Given the description of an element on the screen output the (x, y) to click on. 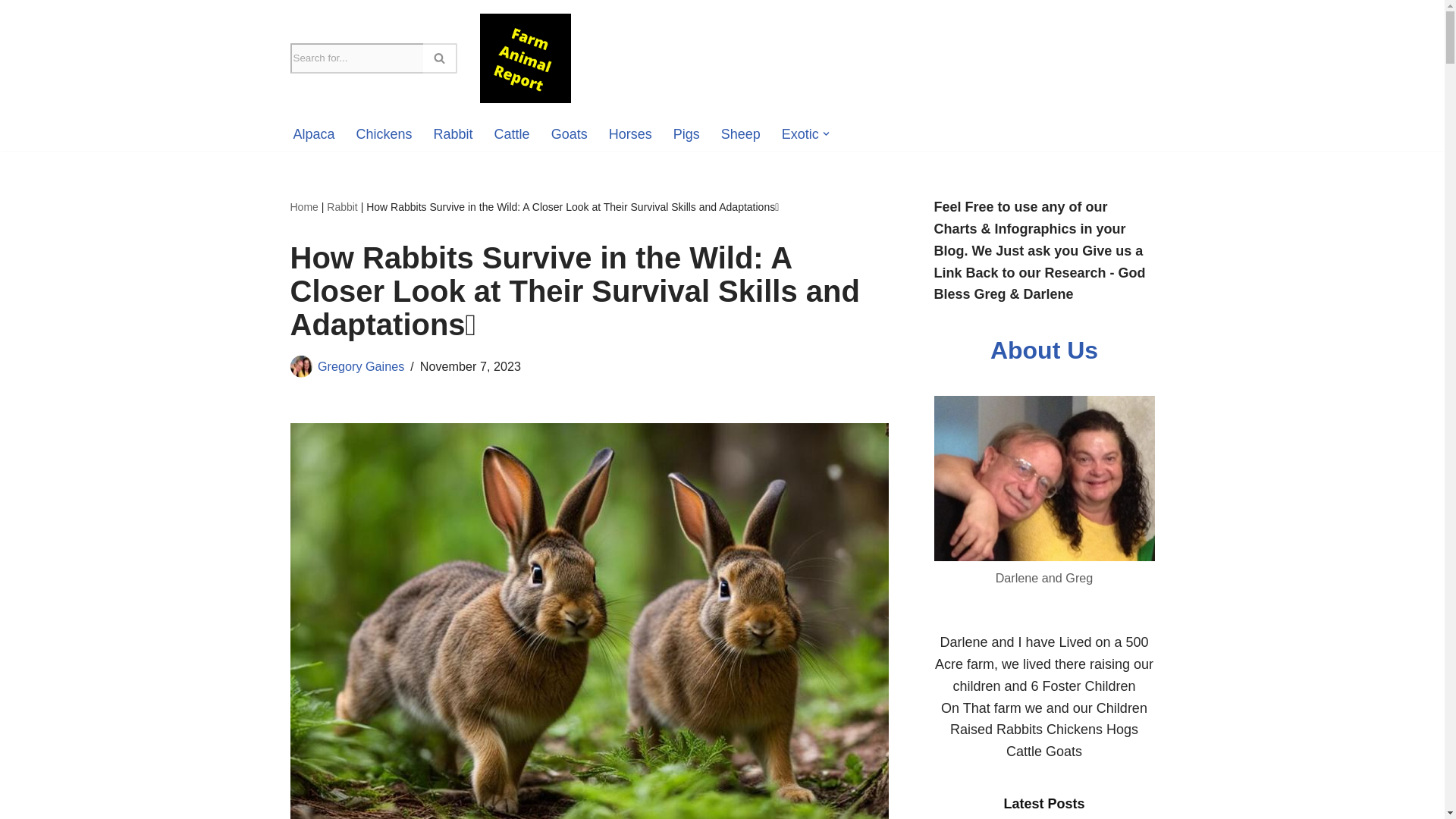
Sheep (740, 133)
Rabbit (453, 133)
Horses (630, 133)
Exotic (799, 133)
Posts by Gregory Gaines (360, 366)
Cattle (512, 133)
Chickens (384, 133)
Pigs (686, 133)
Alpaca (313, 133)
Skip to content (11, 31)
